Given the description of an element on the screen output the (x, y) to click on. 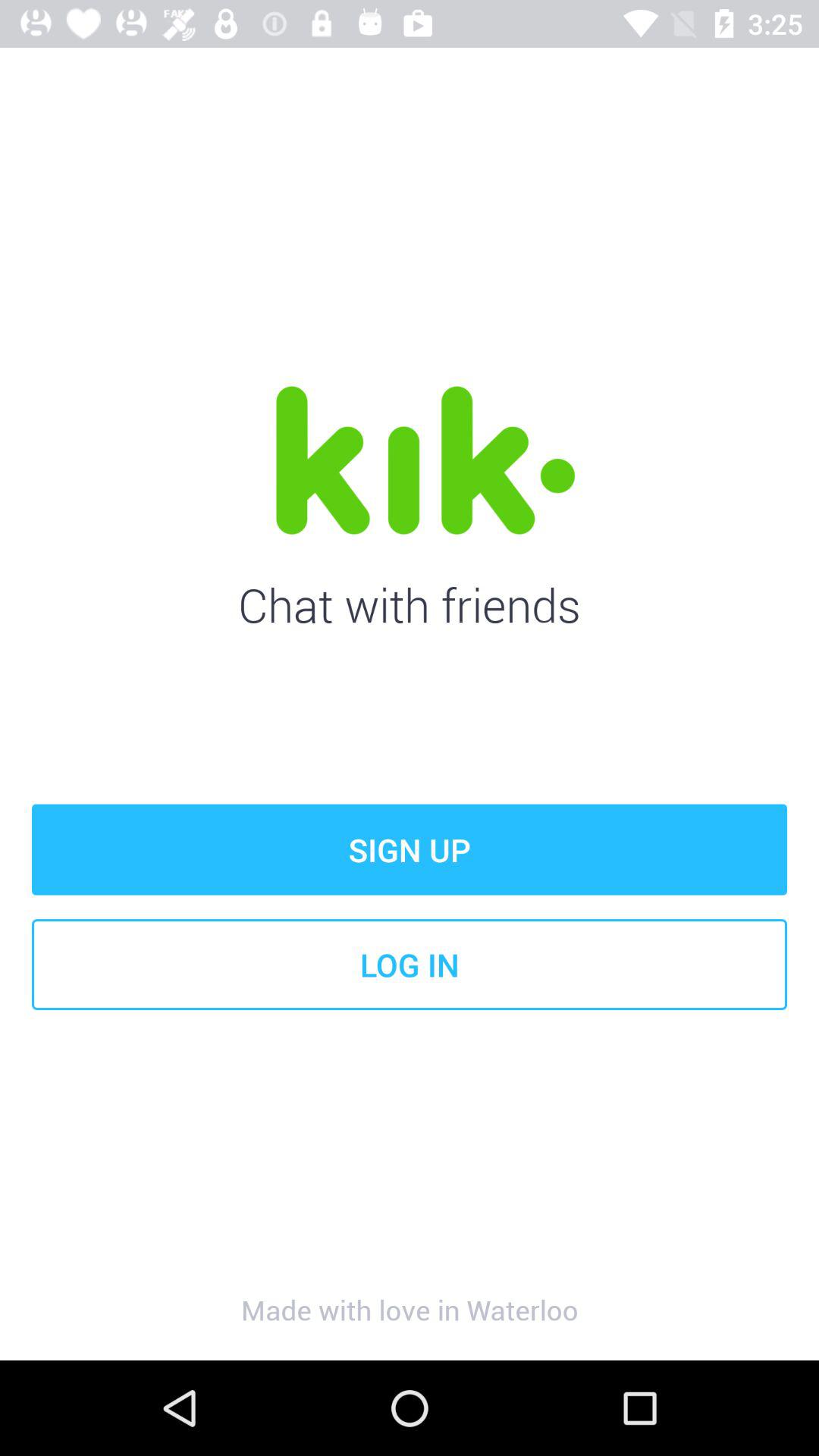
press the item below the chat with friends item (409, 849)
